Given the description of an element on the screen output the (x, y) to click on. 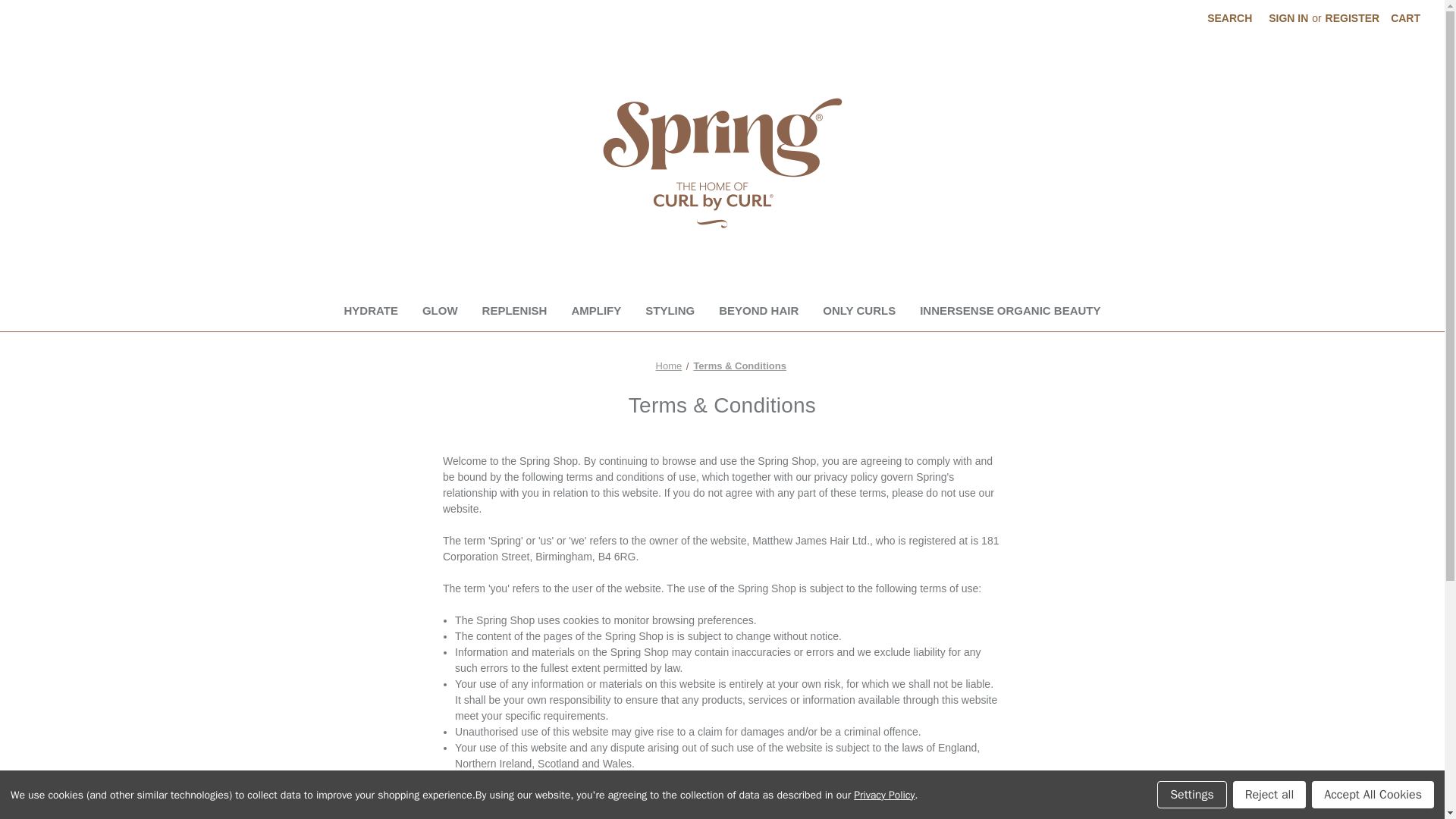
REPLENISH (514, 312)
GLOW (440, 312)
AMPLIFY (596, 312)
Spring (721, 162)
Settings (1192, 794)
Privacy Policy (883, 794)
STYLING (669, 312)
ONLY CURLS (858, 312)
BEYOND HAIR (758, 312)
Home (669, 365)
